Given the description of an element on the screen output the (x, y) to click on. 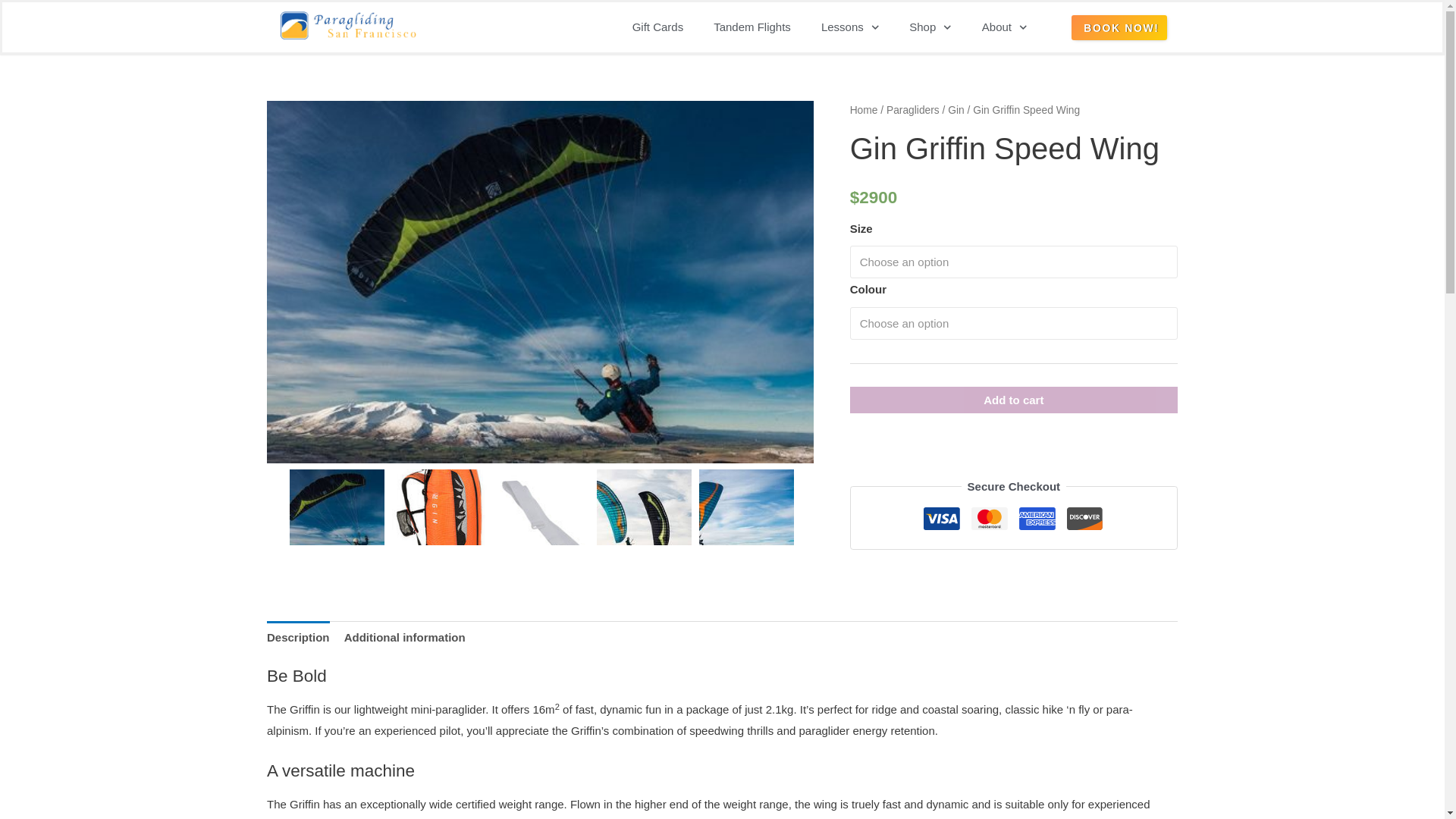
SetWidth770-griffin-02-770w (336, 516)
SetWidth770-griffin-01-770w (745, 516)
About (1004, 27)
Shop (929, 27)
Tandem Flights (752, 27)
PayPal (1013, 450)
Gift Cards (657, 27)
included-x-lite-50L-rucksack (438, 516)
Lessons (849, 27)
